Given the description of an element on the screen output the (x, y) to click on. 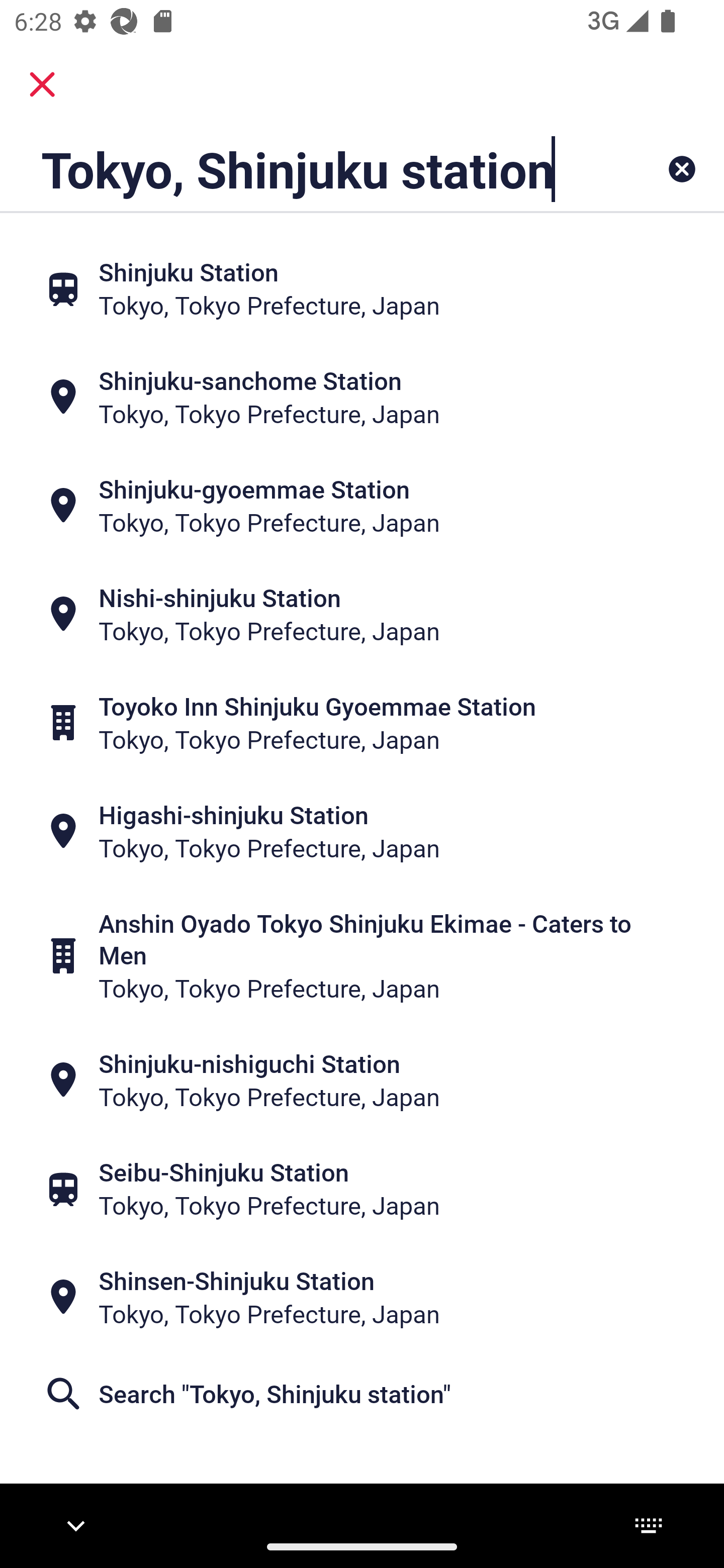
close. (42, 84)
Clear (681, 169)
Tokyo, Shinjuku station (298, 169)
Shinjuku Station Tokyo, Tokyo Prefecture, Japan (362, 288)
Search "Tokyo, Shinjuku station" (361, 1393)
